Given the description of an element on the screen output the (x, y) to click on. 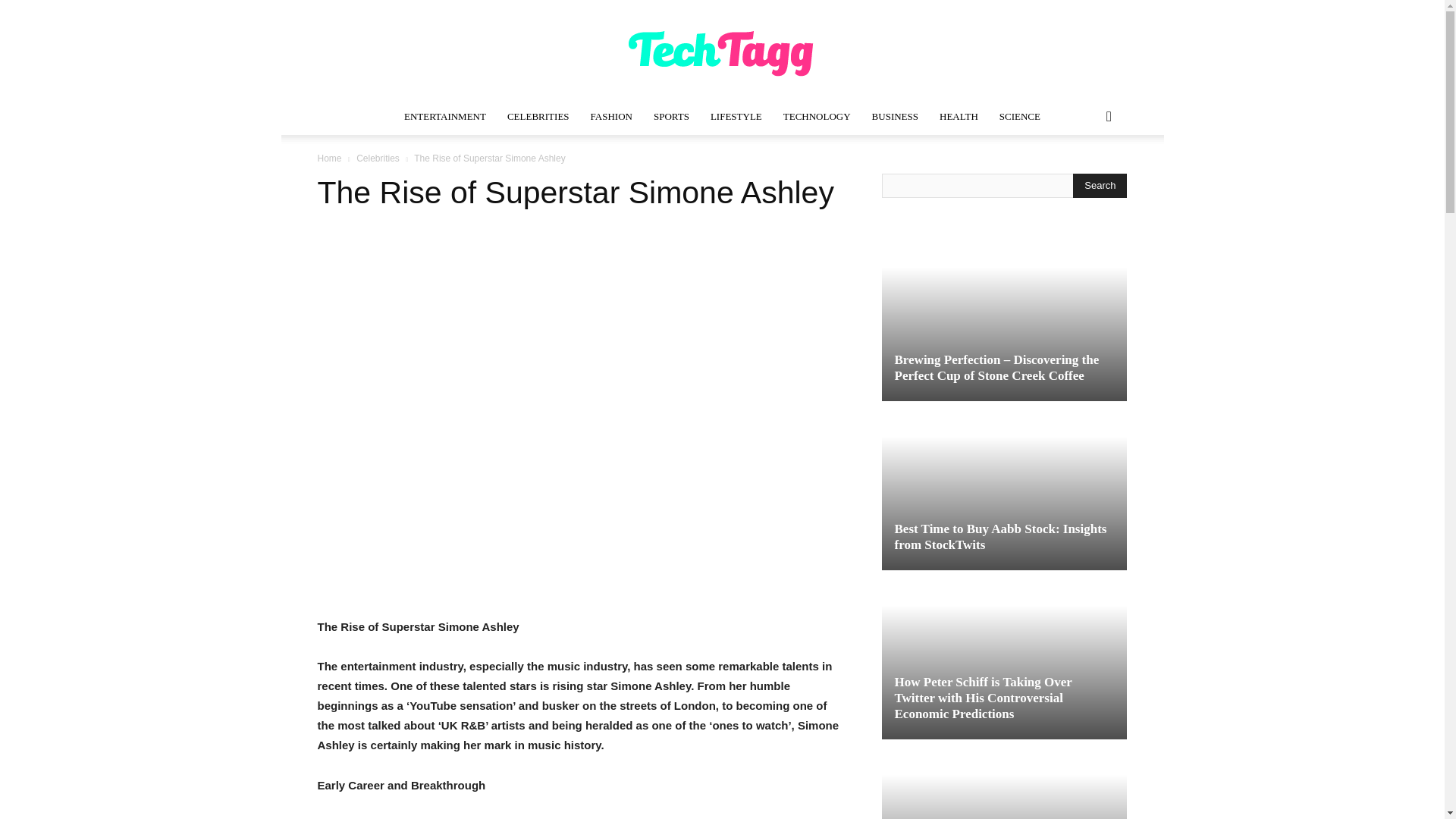
TECHNOLOGY (817, 116)
Celebrities (377, 158)
ENTERTAINMENT (444, 116)
SCIENCE (1019, 116)
Search (1099, 185)
TechTagg (722, 49)
Search (1085, 177)
SPORTS (671, 116)
CELEBRITIES (537, 116)
BUSINESS (894, 116)
